Given the description of an element on the screen output the (x, y) to click on. 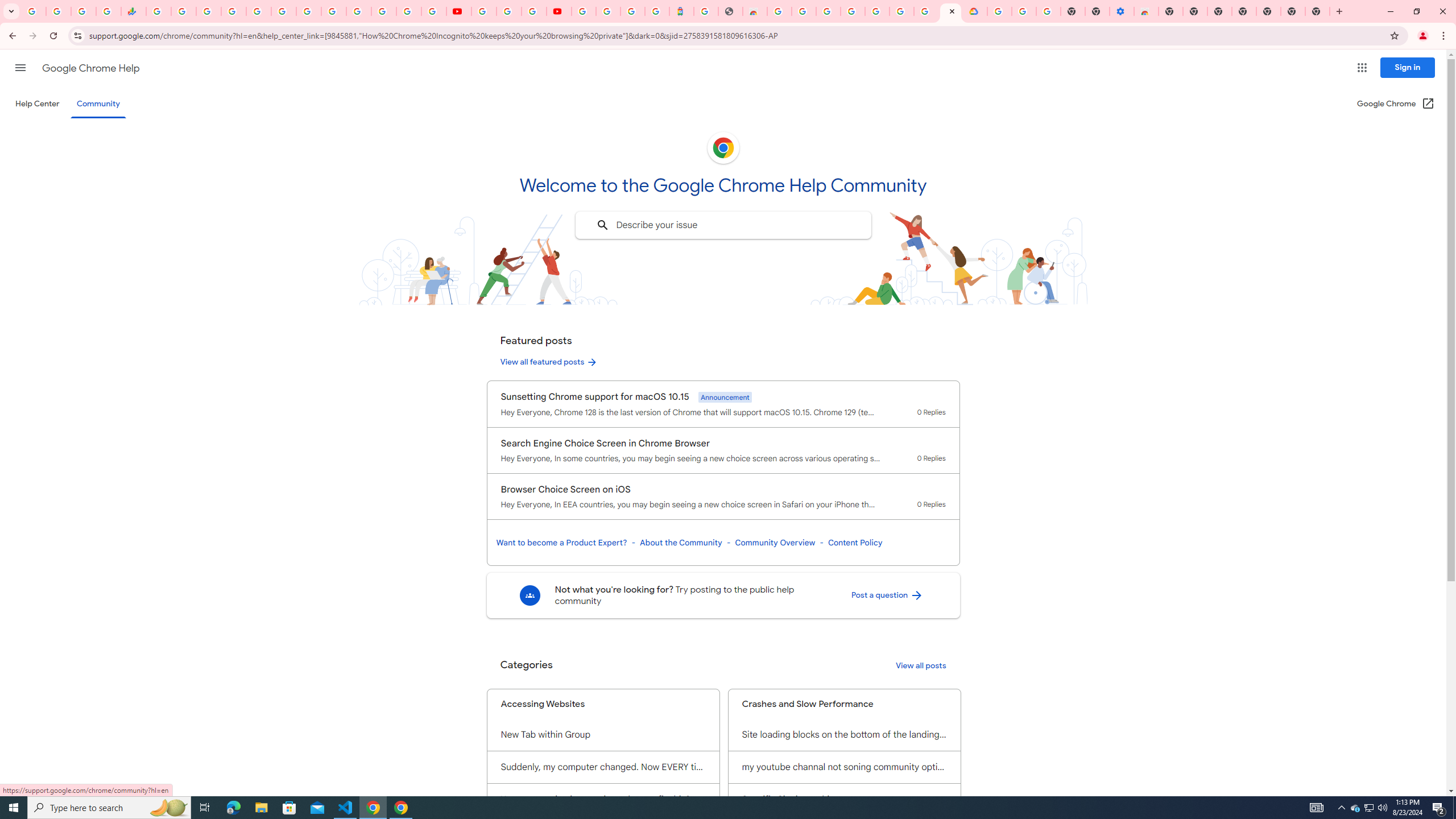
View all featured posts (548, 361)
Chrome Web Store - Accessibility extensions (1145, 11)
Content Policy (854, 542)
New Tab (1317, 11)
Privacy Checkup (433, 11)
